Given the description of an element on the screen output the (x, y) to click on. 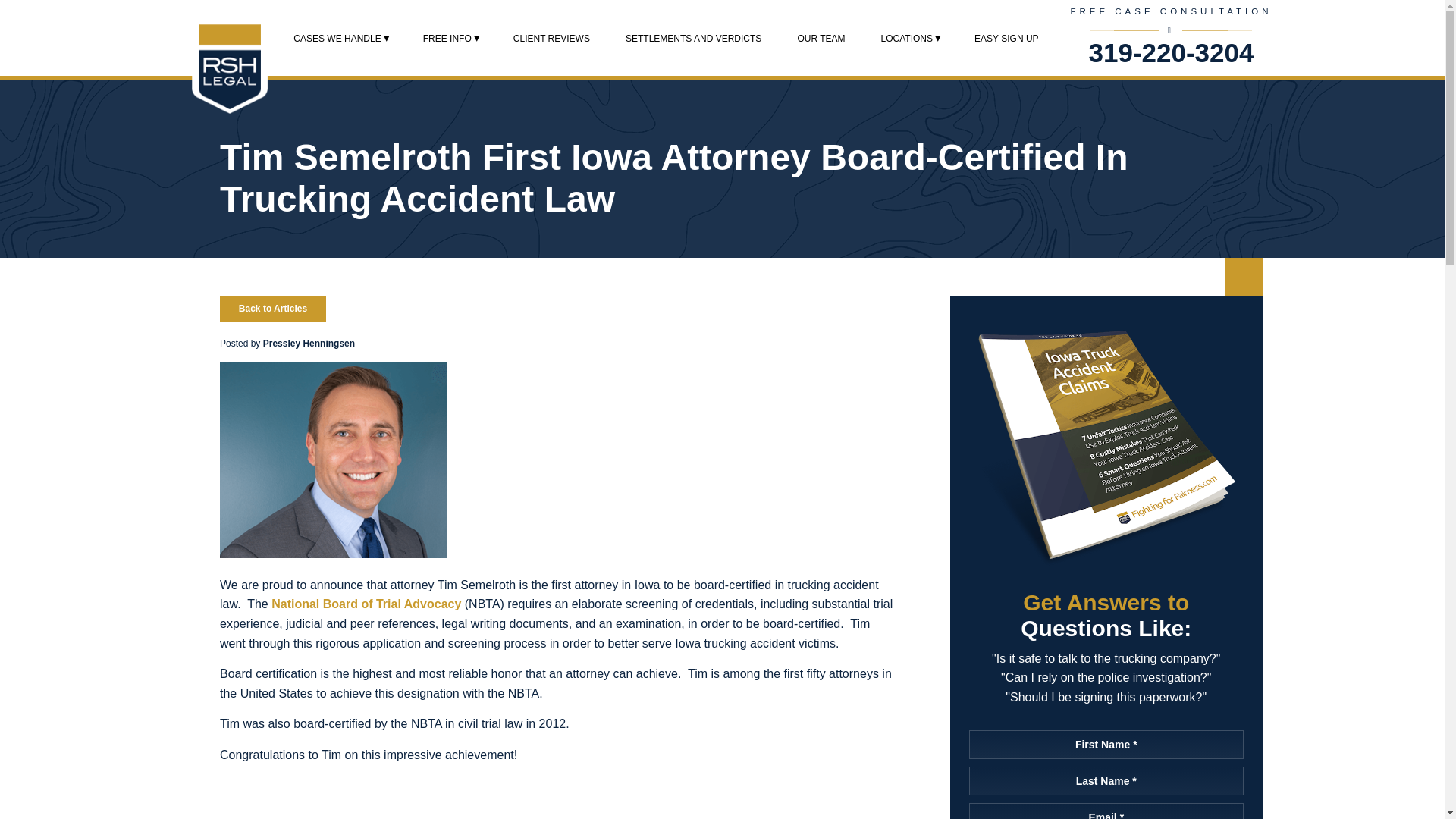
FREE INFO (447, 38)
National Board of Trial Advocacy (365, 603)
CLIENT REVIEWS (551, 38)
EASY SIGN UP (1006, 38)
CASES WE HANDLE (336, 38)
SETTLEMENTS AND VERDICTS (692, 38)
LOCATIONS (906, 38)
OUR TEAM (820, 38)
Back to Articles (272, 308)
